Given the description of an element on the screen output the (x, y) to click on. 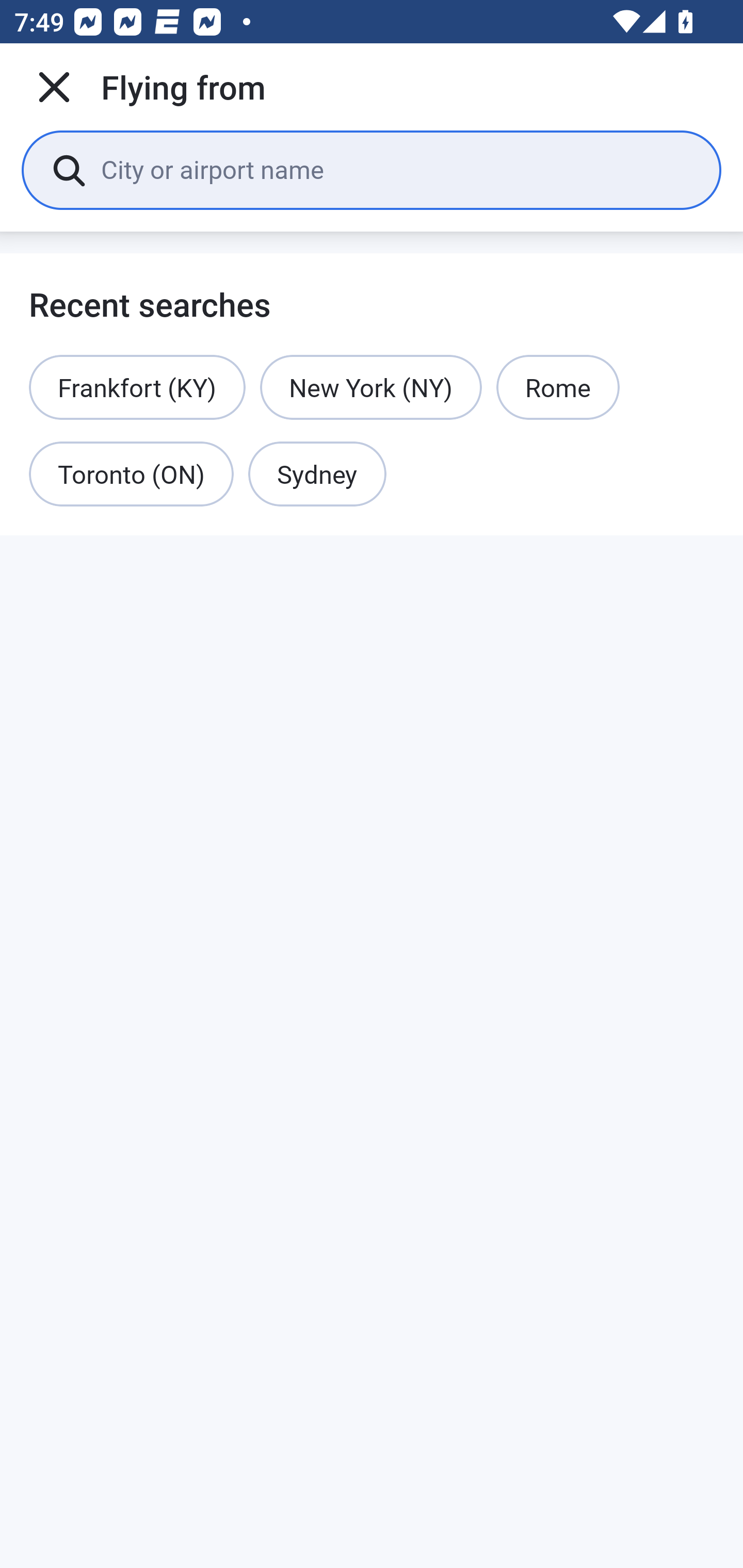
City or airport name (396, 169)
Frankfort (KY) (136, 387)
New York (NY) (371, 387)
Rome (557, 387)
Toronto (ON) (131, 474)
Sydney (317, 474)
